Given the description of an element on the screen output the (x, y) to click on. 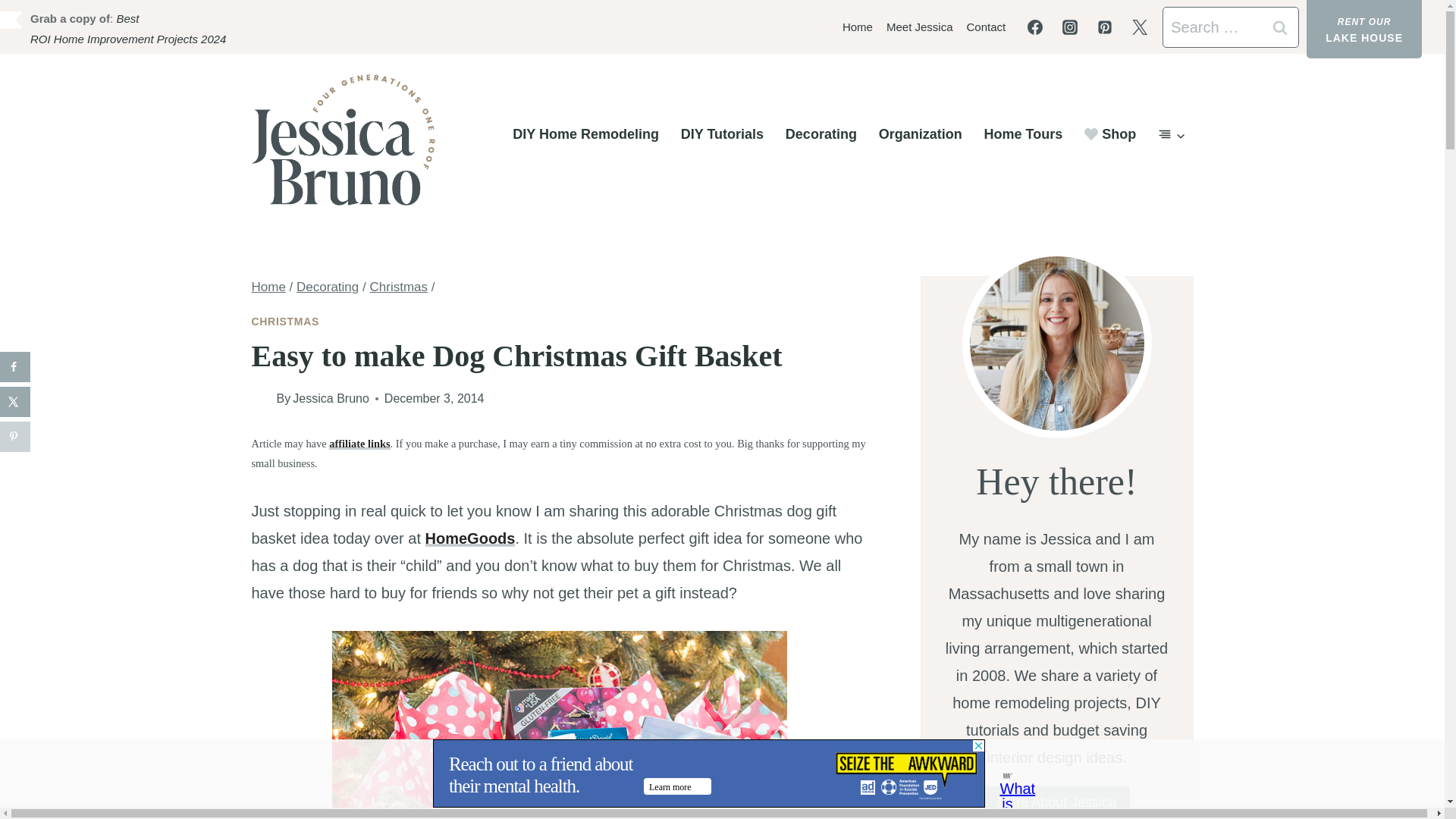
affiliate links (359, 443)
Home (268, 287)
CHRISTMAS (285, 321)
Save to Pinterest (15, 436)
Meet Jessica (919, 26)
Share on X (15, 401)
HomeGoods (470, 538)
DIY Home Remodeling (585, 134)
Decorating (820, 134)
Home (857, 26)
Shop (1110, 134)
Search (1279, 26)
DIY Tutorials (721, 134)
Home Tours (1022, 134)
Share on Facebook (15, 367)
